Given the description of an element on the screen output the (x, y) to click on. 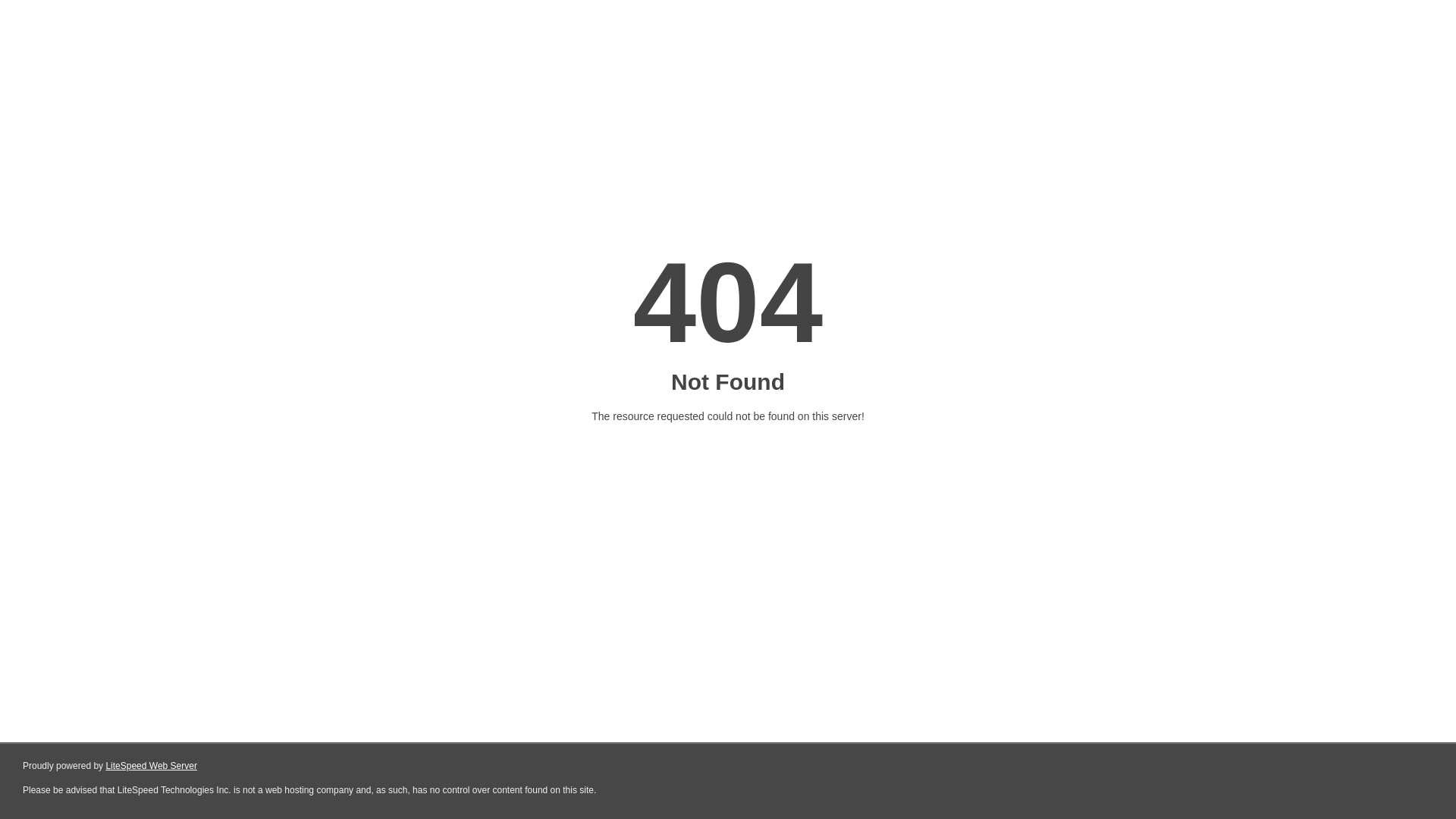
LiteSpeed Web Server Element type: text (151, 765)
